Given the description of an element on the screen output the (x, y) to click on. 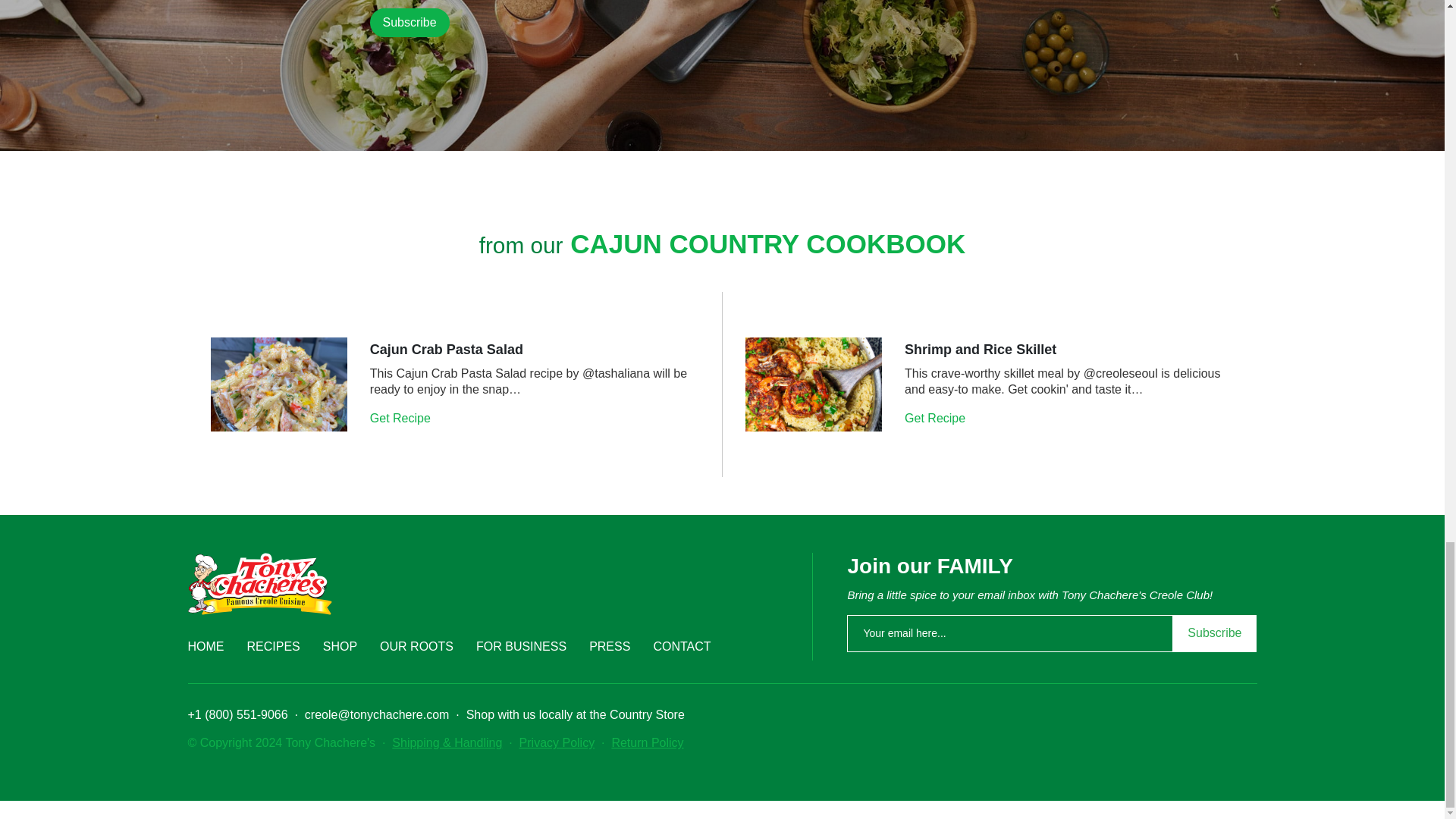
Get Recipe (401, 418)
Subscribe (409, 22)
RECIPES (273, 645)
HOME (205, 645)
Get Recipe (936, 418)
PRESS (609, 645)
OUR ROOTS (416, 645)
SHOP (339, 645)
Subscribe (409, 22)
CONTACT (681, 645)
FOR BUSINESS (521, 645)
